Given the description of an element on the screen output the (x, y) to click on. 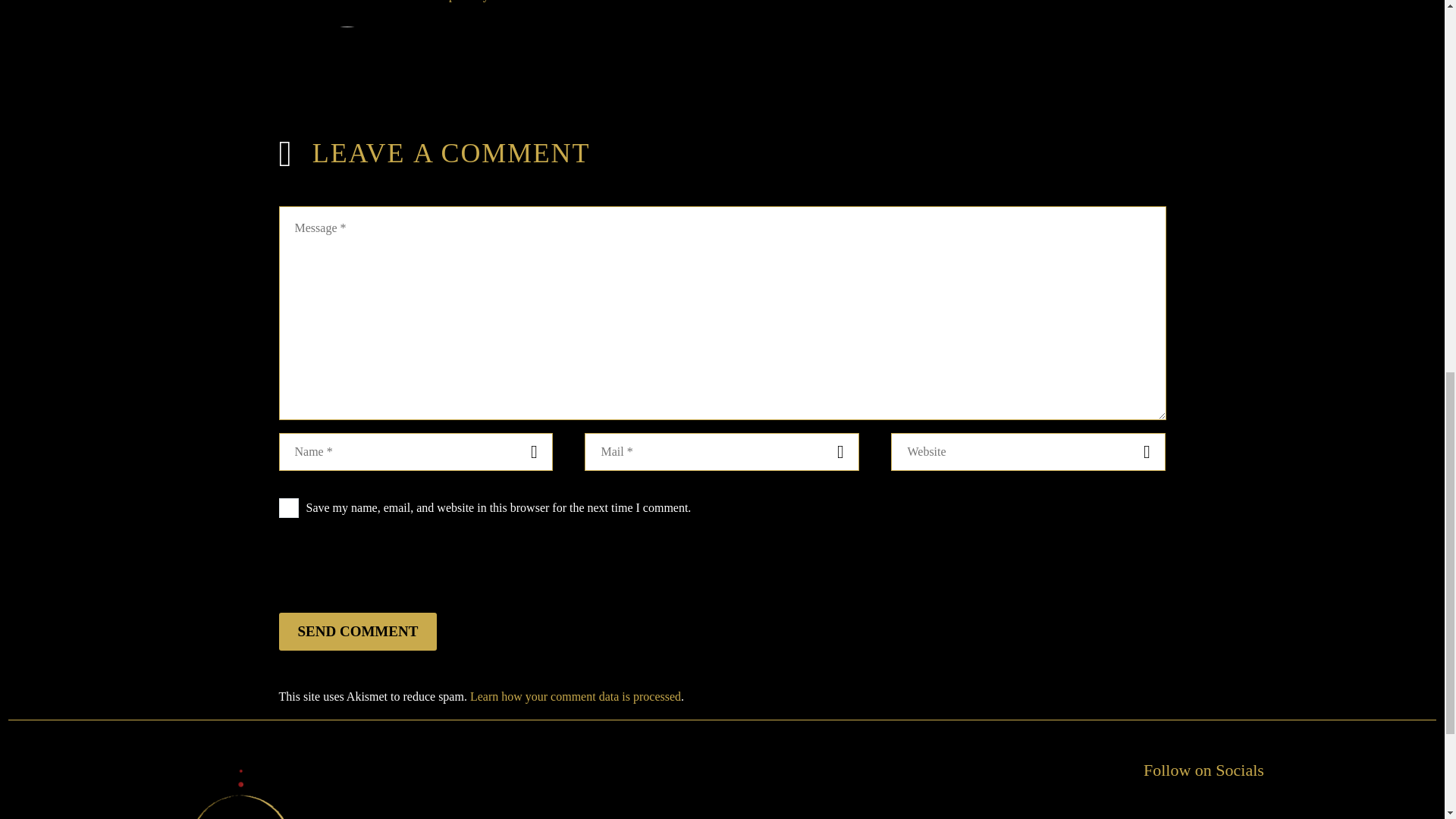
SEND COMMENT (358, 631)
Learn how your comment data is processed (575, 696)
More posts by Whaia (466, 0)
